Given the description of an element on the screen output the (x, y) to click on. 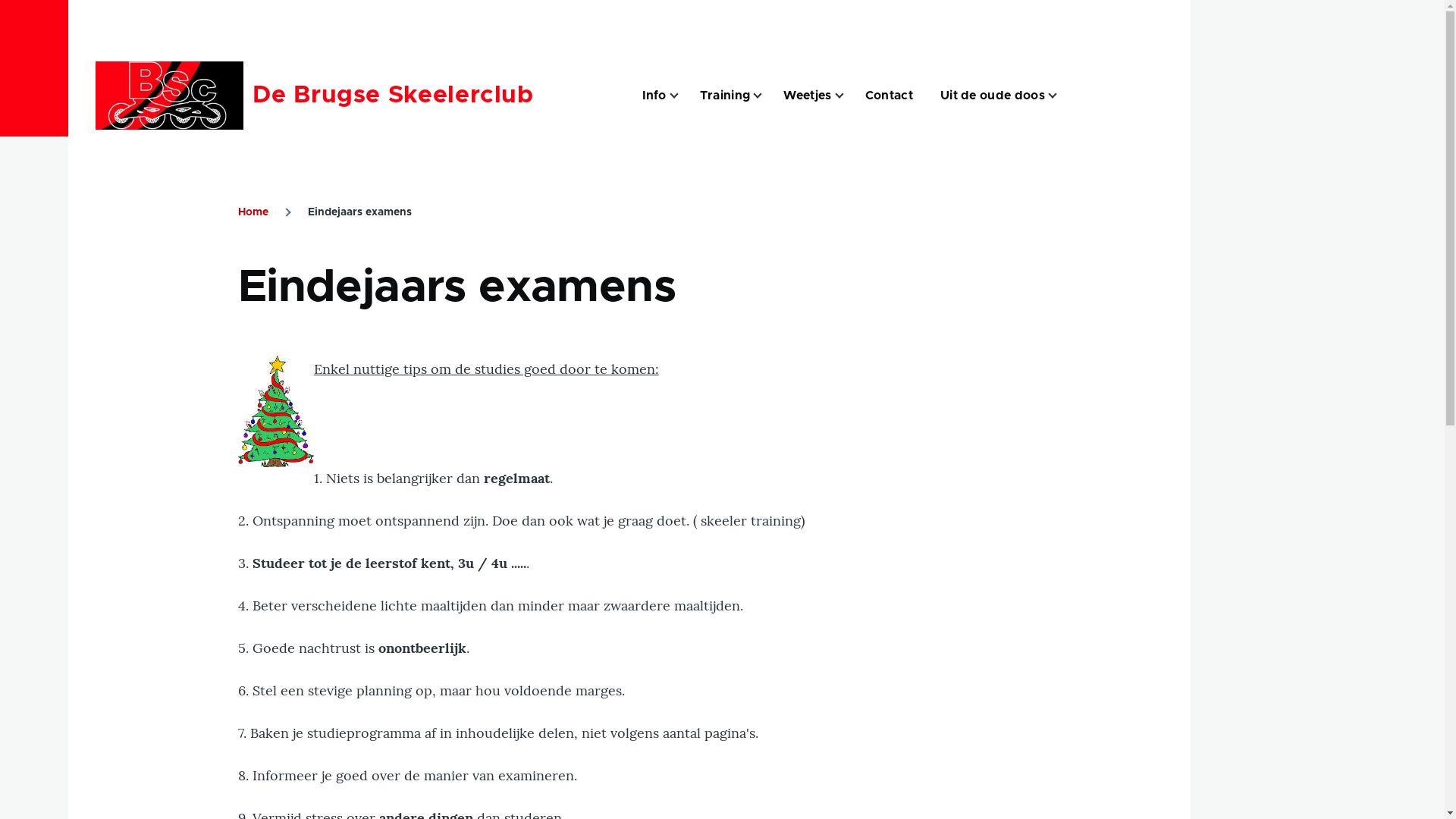
Uit de oude doos Element type: text (992, 94)
Weetjes Element type: text (807, 94)
Info Element type: text (654, 94)
Training Element type: text (724, 94)
Contact Element type: text (889, 94)
Overslaan en naar de inhoud gaan Element type: text (595, 6)
Home Element type: text (253, 212)
De Brugse Skeelerclub Element type: text (392, 95)
